Given the description of an element on the screen output the (x, y) to click on. 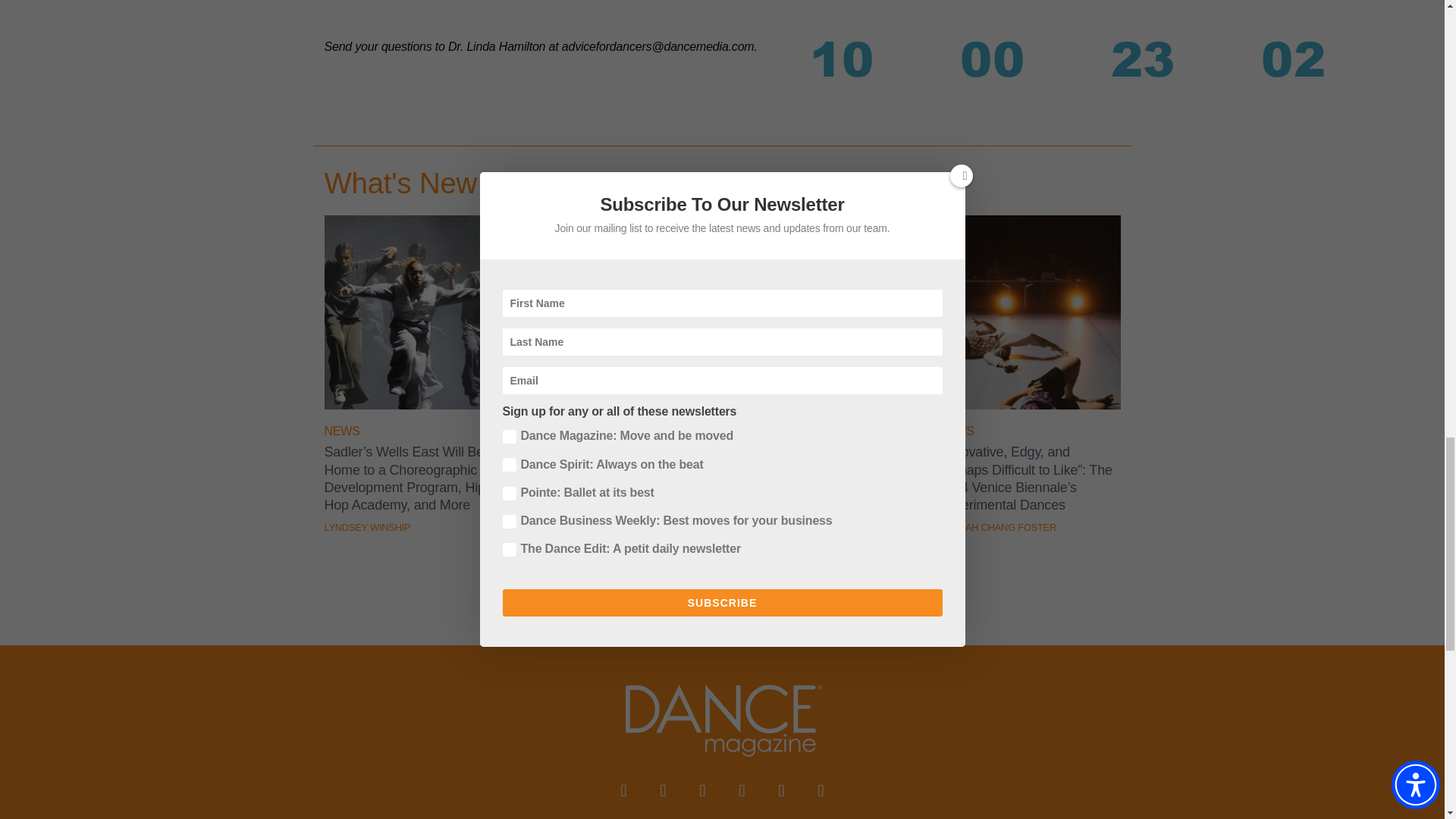
Follow on Facebook (623, 790)
Will the Olympics Help Dancers Get Paid Like Athletes? (620, 404)
Follow on Twitter (662, 790)
Follow on Instagram (702, 790)
Follow on Youtube (741, 790)
